Given the description of an element on the screen output the (x, y) to click on. 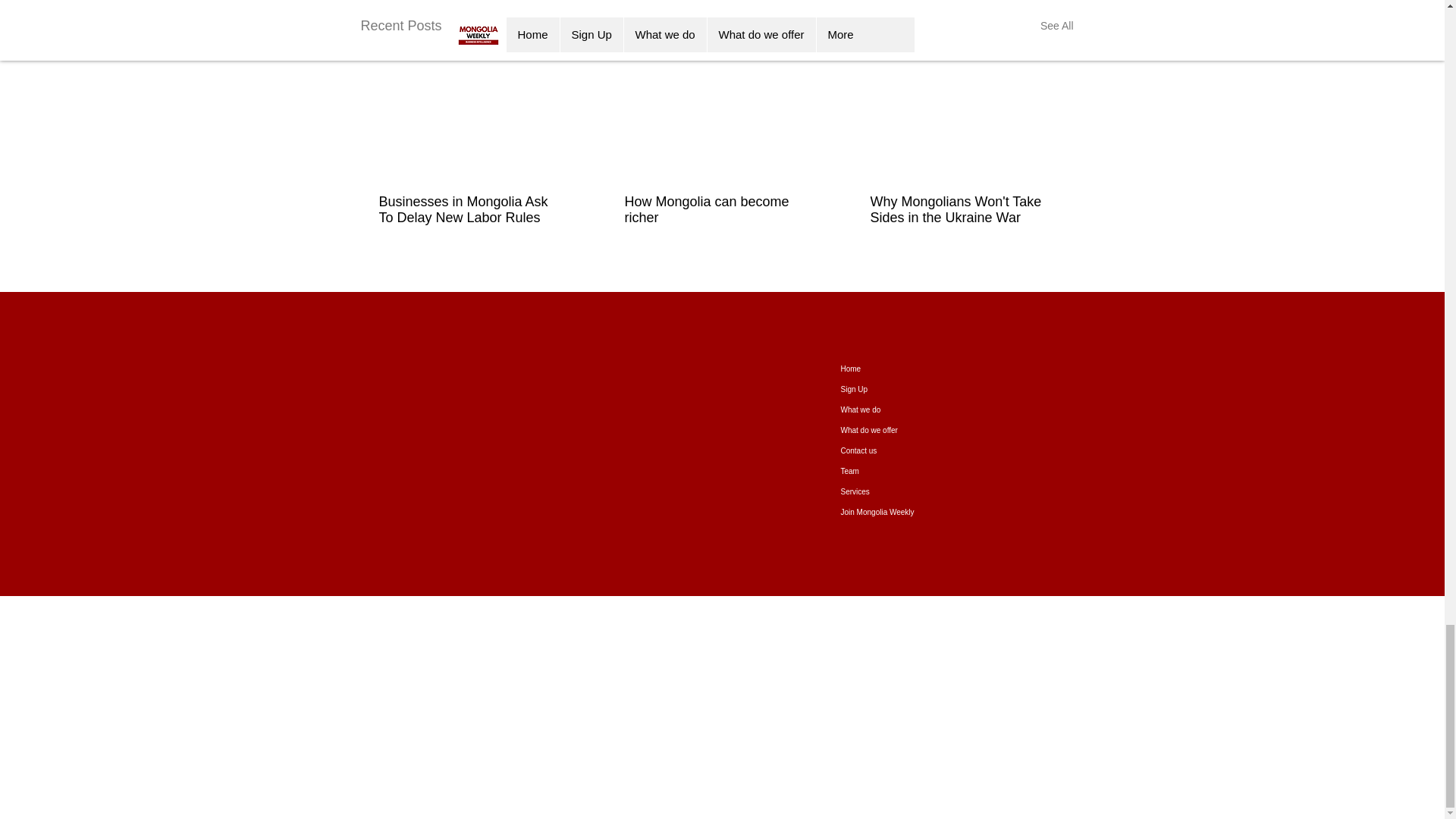
What do we offer (898, 430)
Why Mongolians Won't Take Sides in the Ukraine War (962, 210)
Sign Up (898, 389)
Home (898, 368)
Contact us (898, 450)
See All (1057, 25)
Team (898, 471)
How Mongolia can become richer (716, 210)
Businesses in Mongolia Ask To Delay New Labor Rules (470, 210)
What we do (898, 409)
